Given the description of an element on the screen output the (x, y) to click on. 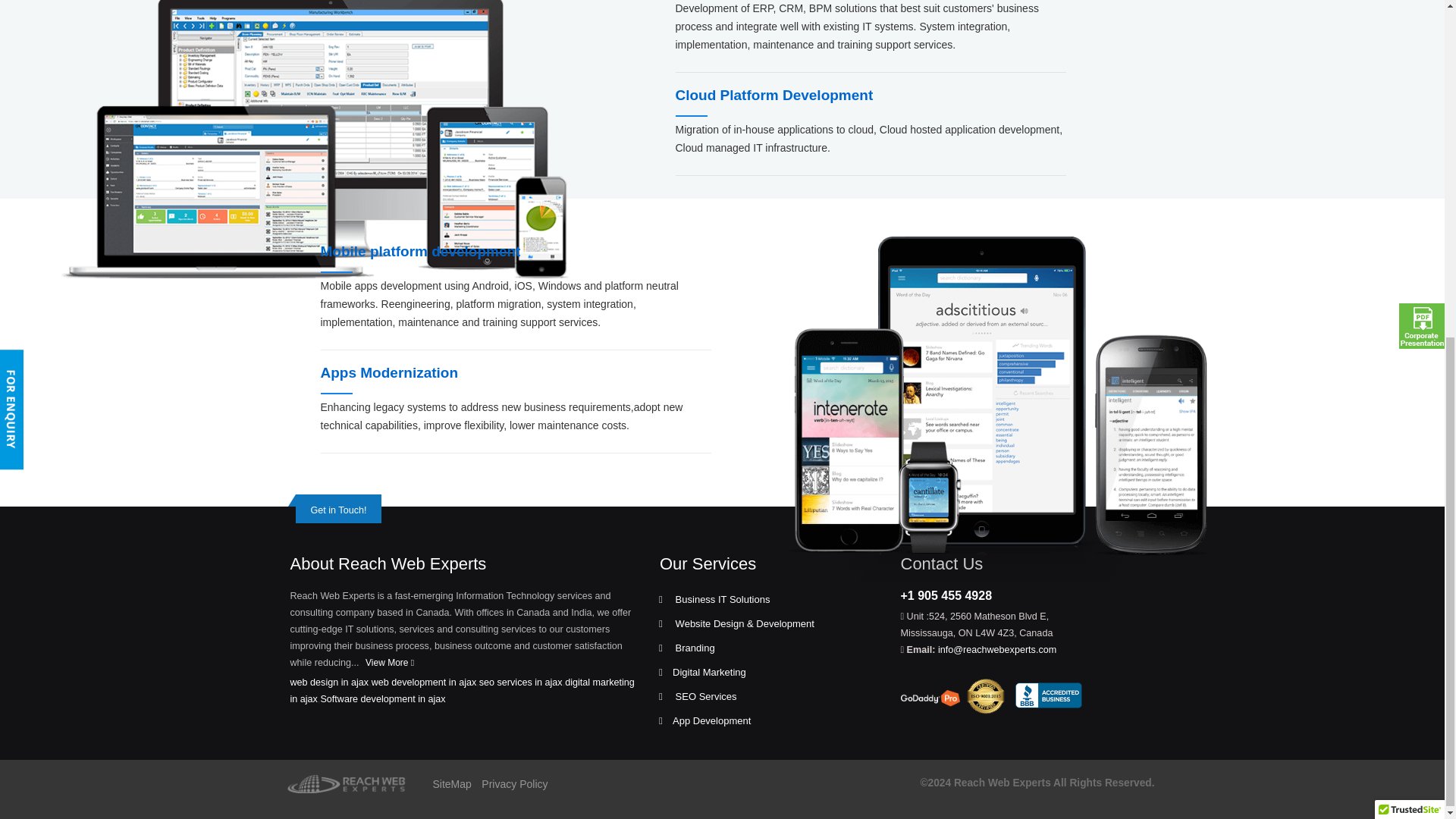
web design in ajax (328, 682)
App Development (711, 720)
digital marketing in ajax (461, 690)
Branding (693, 647)
View More (389, 662)
web development in ajax (424, 682)
Software development in ajax (382, 698)
Get in Touch! (338, 510)
Digital Marketing (708, 672)
Graphic design in ajax, Creative design in GTA (348, 783)
seo services in ajax (520, 682)
SEO Services (704, 696)
Business IT Solutions (721, 599)
